Given the description of an element on the screen output the (x, y) to click on. 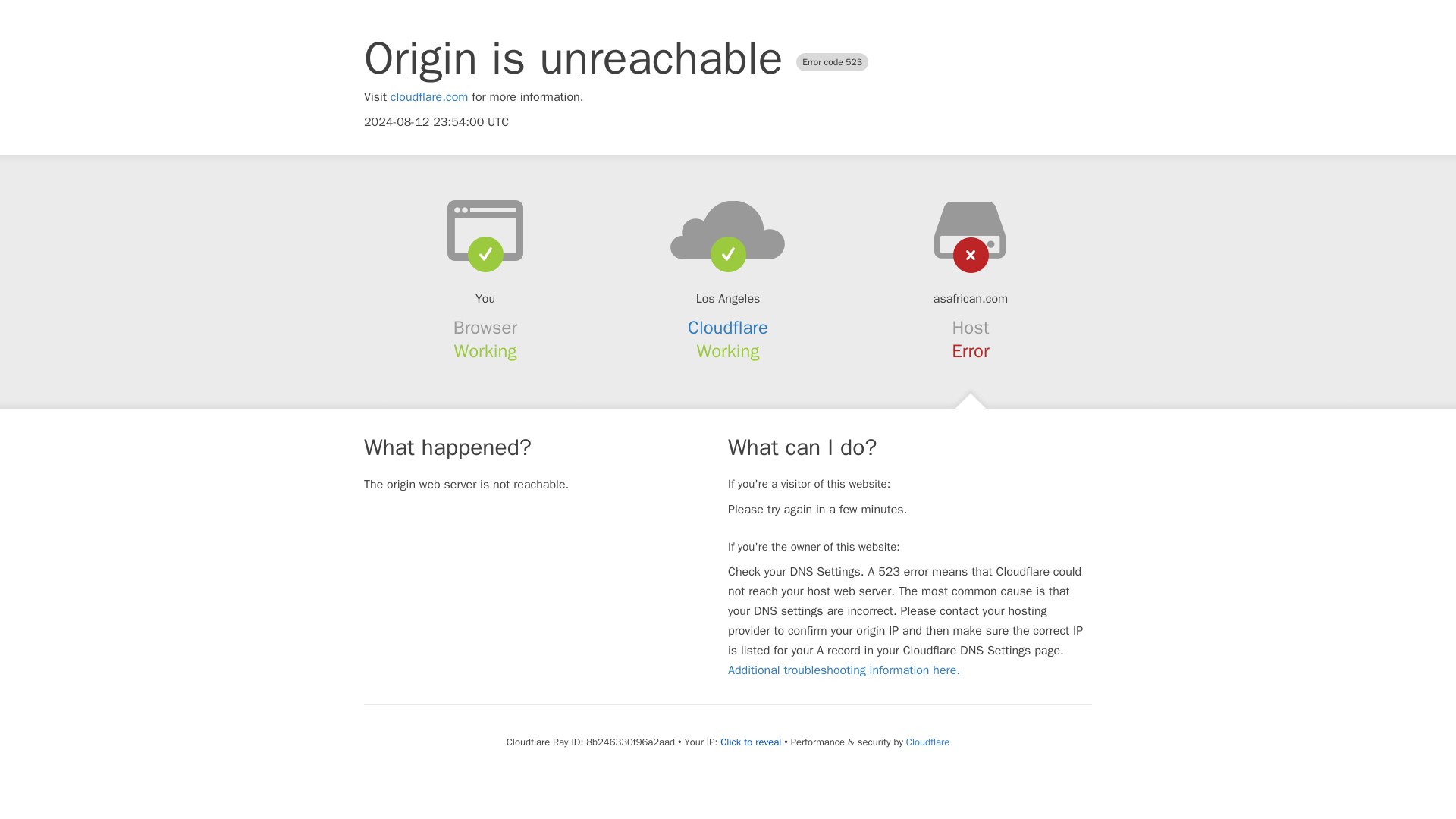
Additional troubleshooting information here. (843, 670)
Cloudflare (727, 327)
Cloudflare (927, 741)
cloudflare.com (429, 96)
Click to reveal (750, 742)
